Given the description of an element on the screen output the (x, y) to click on. 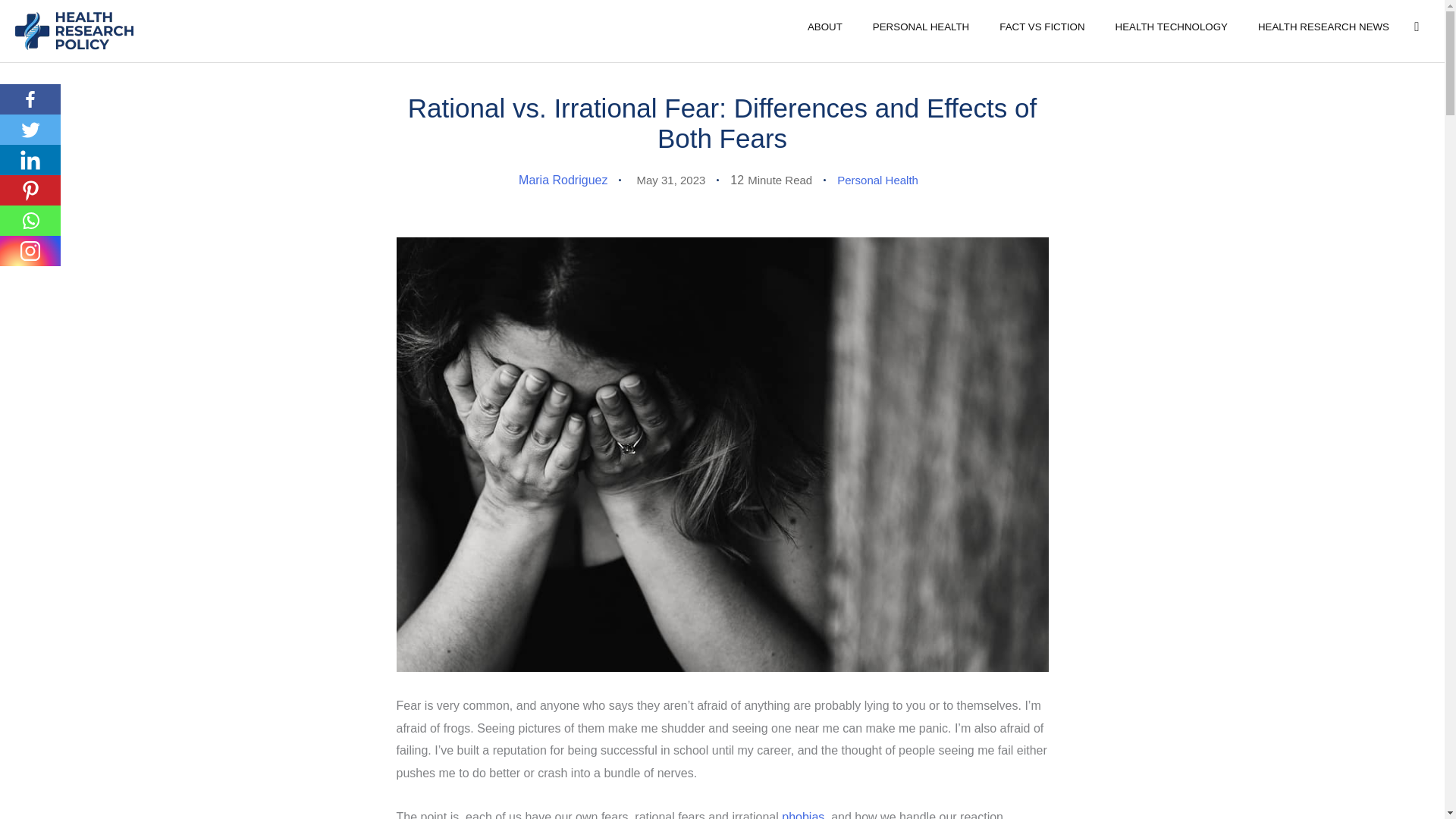
Personal Health (877, 180)
Maria Rodriguez (562, 179)
Linkedin (30, 159)
Twitter (30, 129)
ABOUT (824, 26)
FACT VS FICTION (1041, 26)
Pinterest (30, 190)
HEALTH TECHNOLOGY (1171, 26)
phobias (802, 814)
Instagram (30, 250)
Whatsapp (30, 220)
PERSONAL HEALTH (920, 26)
Facebook (30, 99)
HEALTH RESEARCH NEWS (1324, 26)
